Given the description of an element on the screen output the (x, y) to click on. 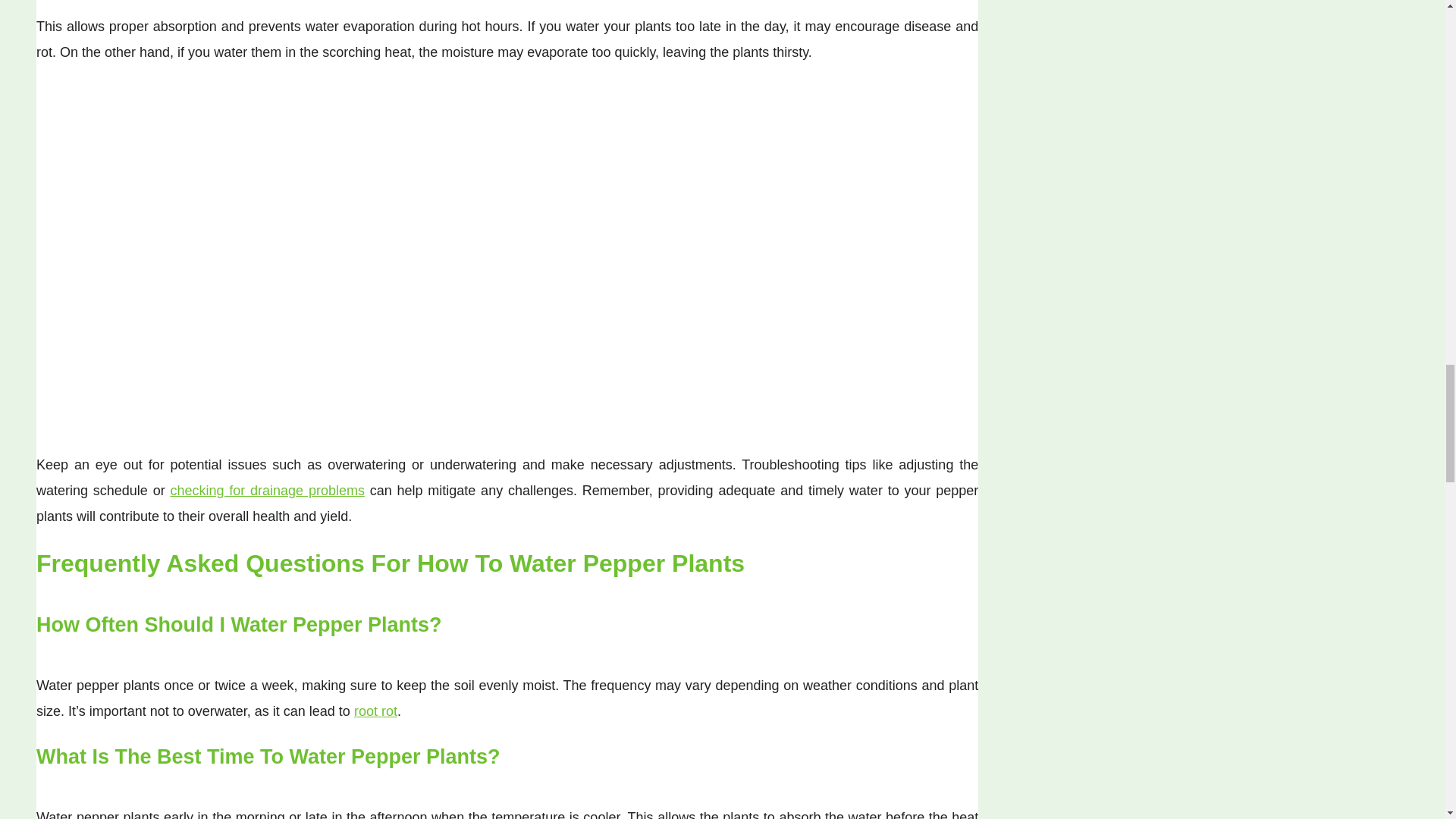
checking for drainage problems (267, 490)
root rot (375, 711)
